Given the description of an element on the screen output the (x, y) to click on. 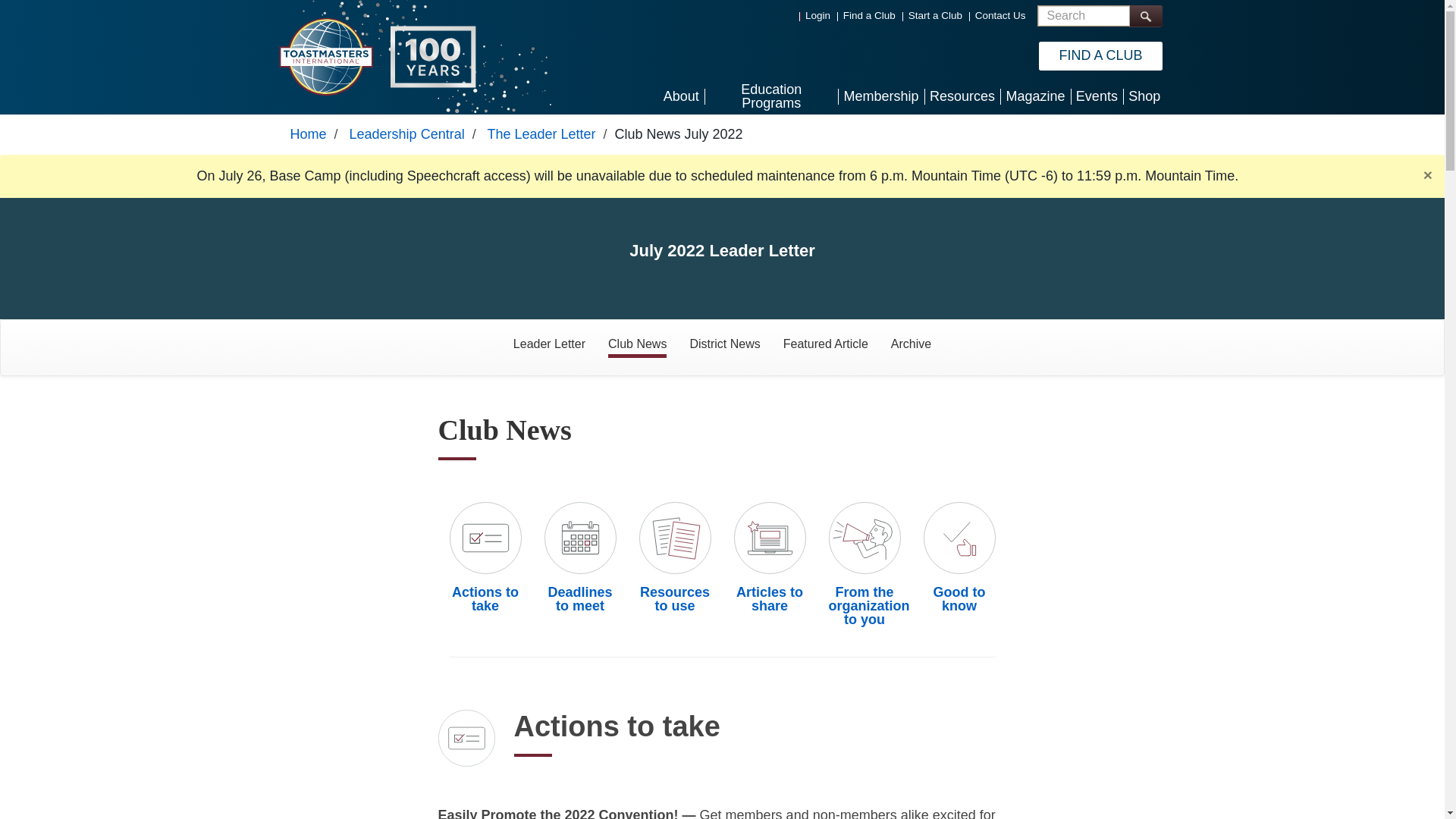
Magazine (1035, 95)
Leadership Central (406, 133)
Shop (1144, 95)
Leader Letter (549, 344)
Find a Club (869, 15)
Login (817, 15)
District News (724, 344)
Featured Article (825, 344)
The Leader Letter (540, 133)
Actions to take (484, 598)
Contact Us (1000, 15)
Search (1144, 15)
Events (1096, 95)
Club News (637, 344)
FIND A CLUB (1100, 55)
